Given the description of an element on the screen output the (x, y) to click on. 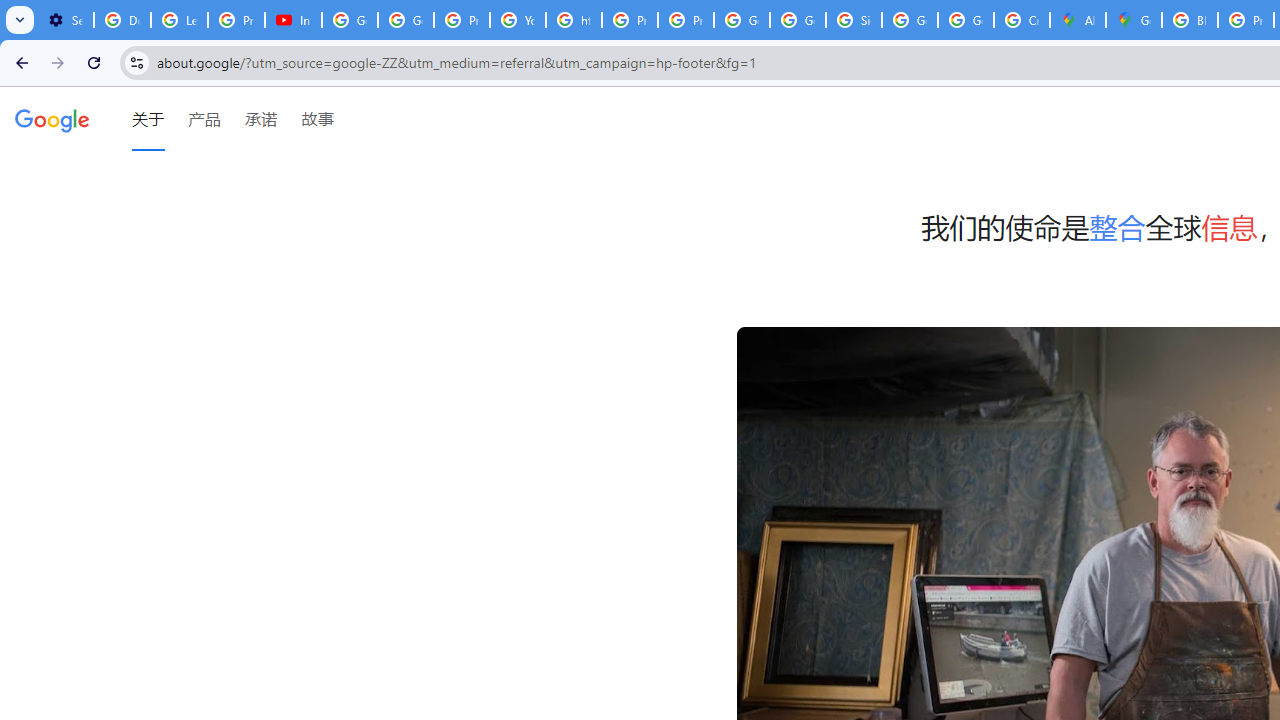
Privacy Help Center - Policies Help (629, 20)
Google Maps (1133, 20)
Learn how to find your photos - Google Photos Help (179, 20)
YouTube (518, 20)
Delete photos & videos - Computer - Google Photos Help (122, 20)
Settings - Customize profile (65, 20)
